Given the description of an element on the screen output the (x, y) to click on. 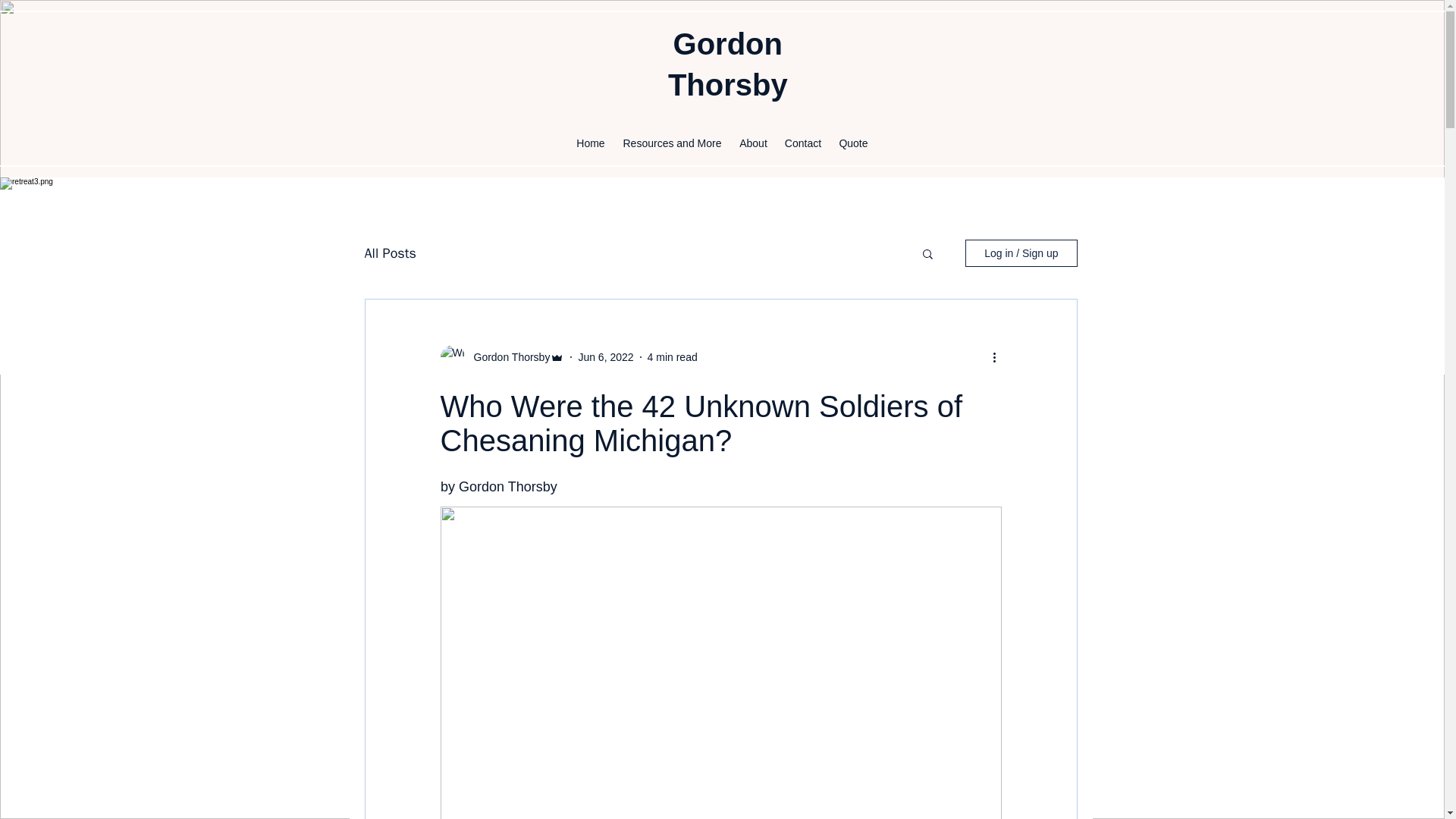
Quote (852, 142)
Resources and More (671, 142)
Gordon Thorsby (507, 356)
Contact (801, 142)
4 min read (672, 356)
Jun 6, 2022 (605, 356)
About (752, 142)
All Posts (389, 253)
Home (589, 142)
